Given the description of an element on the screen output the (x, y) to click on. 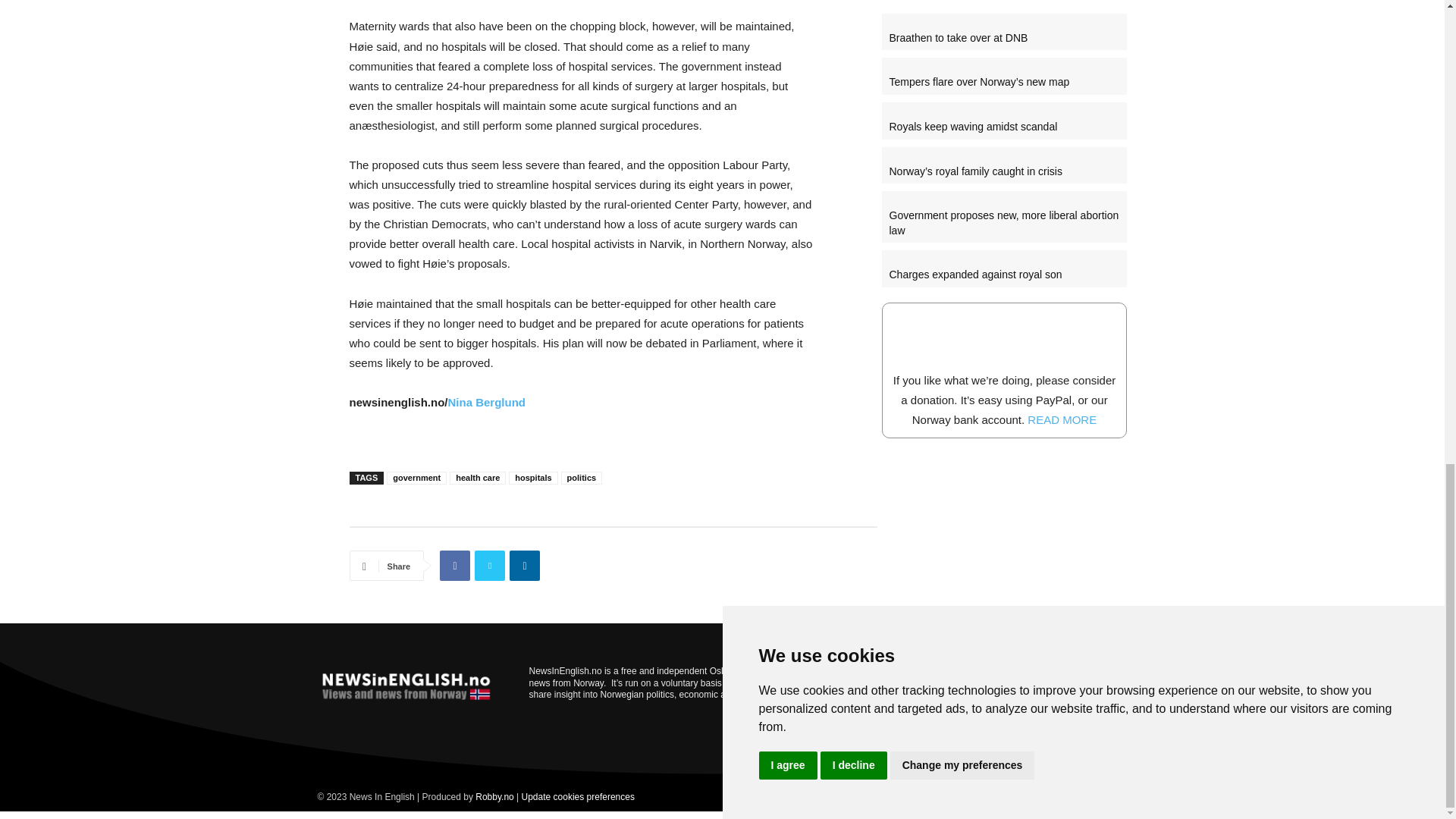
Twitter (489, 565)
Facebook (454, 565)
Linkedin (524, 565)
